Given the description of an element on the screen output the (x, y) to click on. 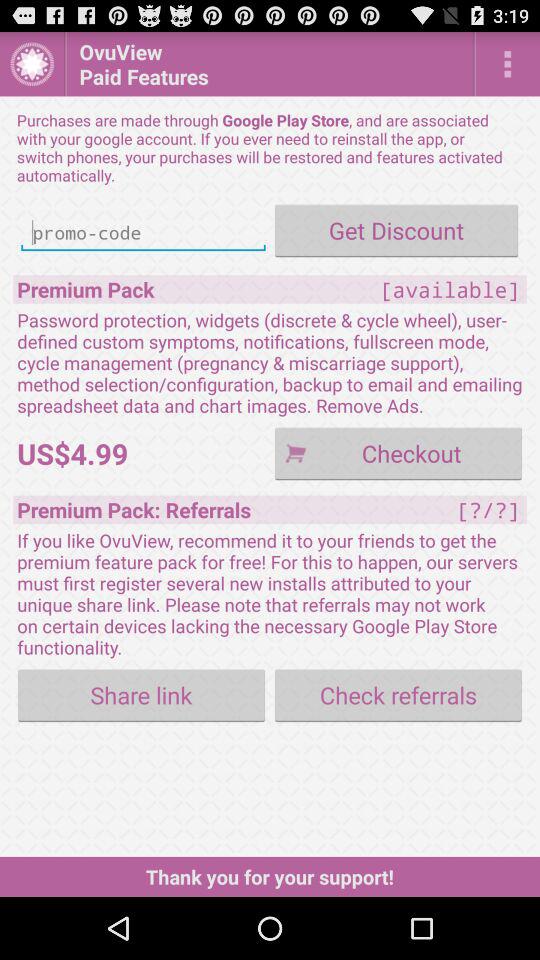
choose checkout (398, 452)
